Given the description of an element on the screen output the (x, y) to click on. 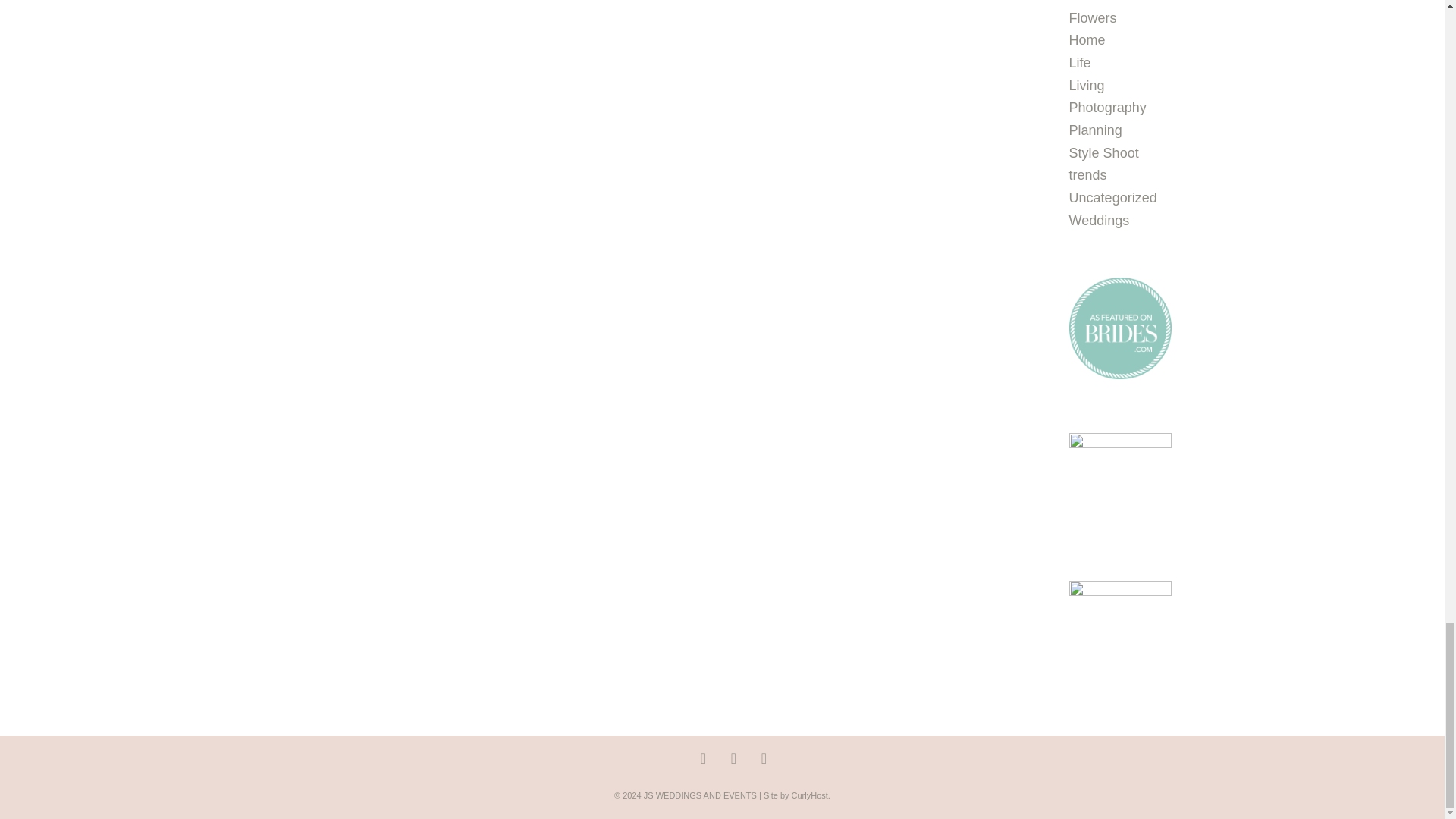
Pinterest (763, 757)
Instagram (703, 757)
Facebook (734, 757)
